Given the description of an element on the screen output the (x, y) to click on. 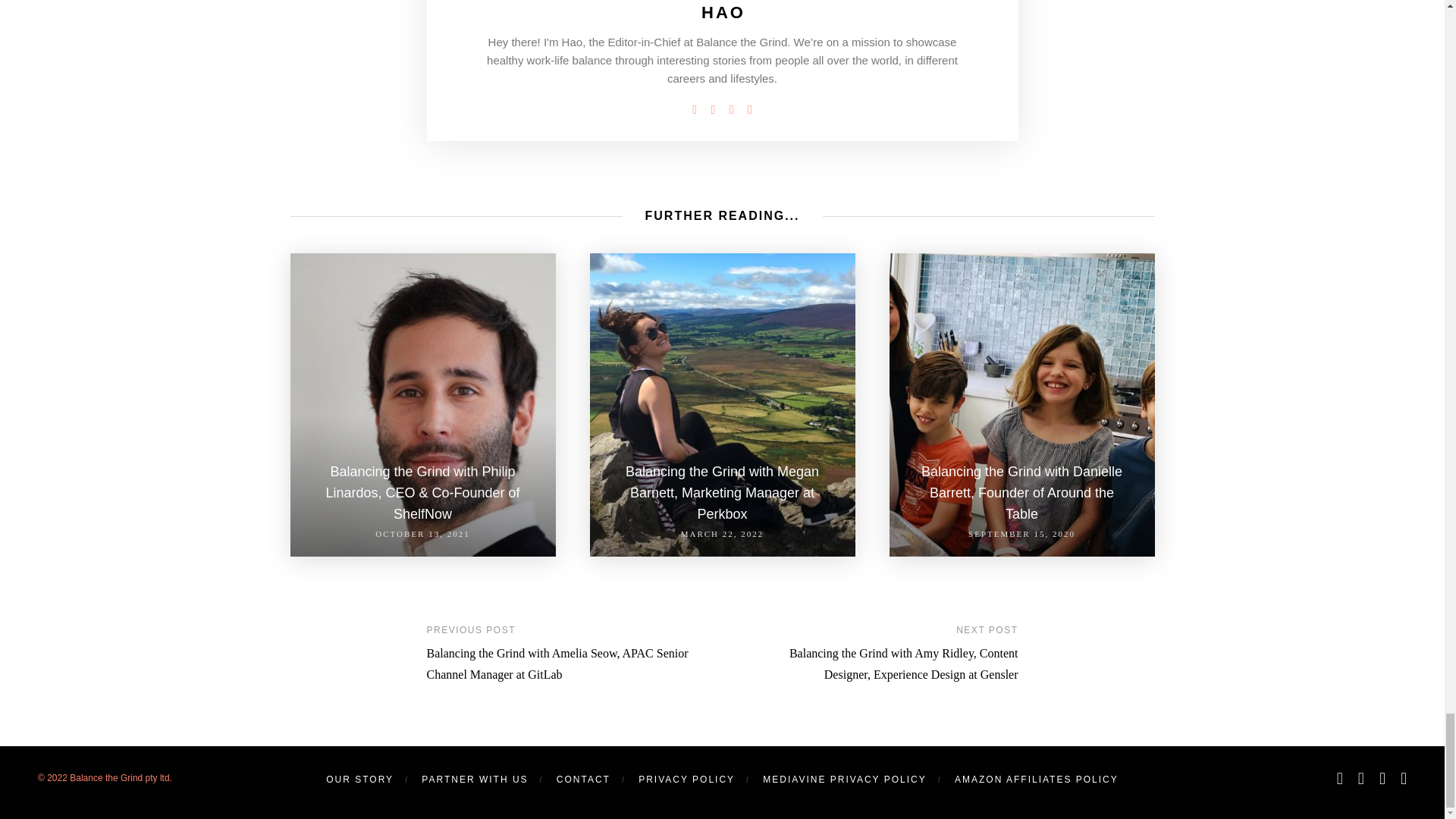
Posts by hao (723, 12)
